Given the description of an element on the screen output the (x, y) to click on. 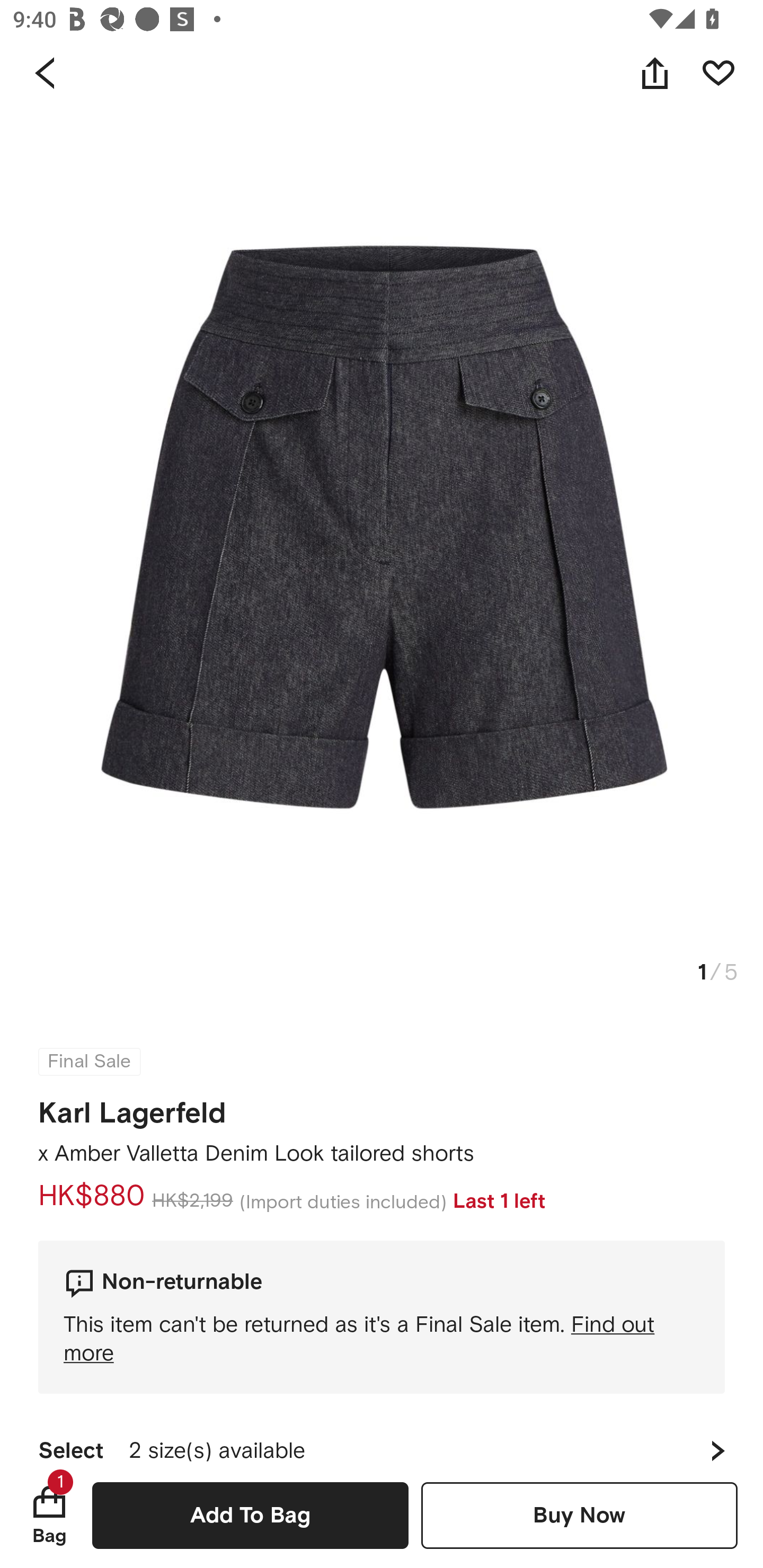
Karl Lagerfeld (132, 1107)
Select 2 size(s) available (381, 1437)
Bag 1 (49, 1515)
Add To Bag (250, 1515)
Buy Now (579, 1515)
